Given the description of an element on the screen output the (x, y) to click on. 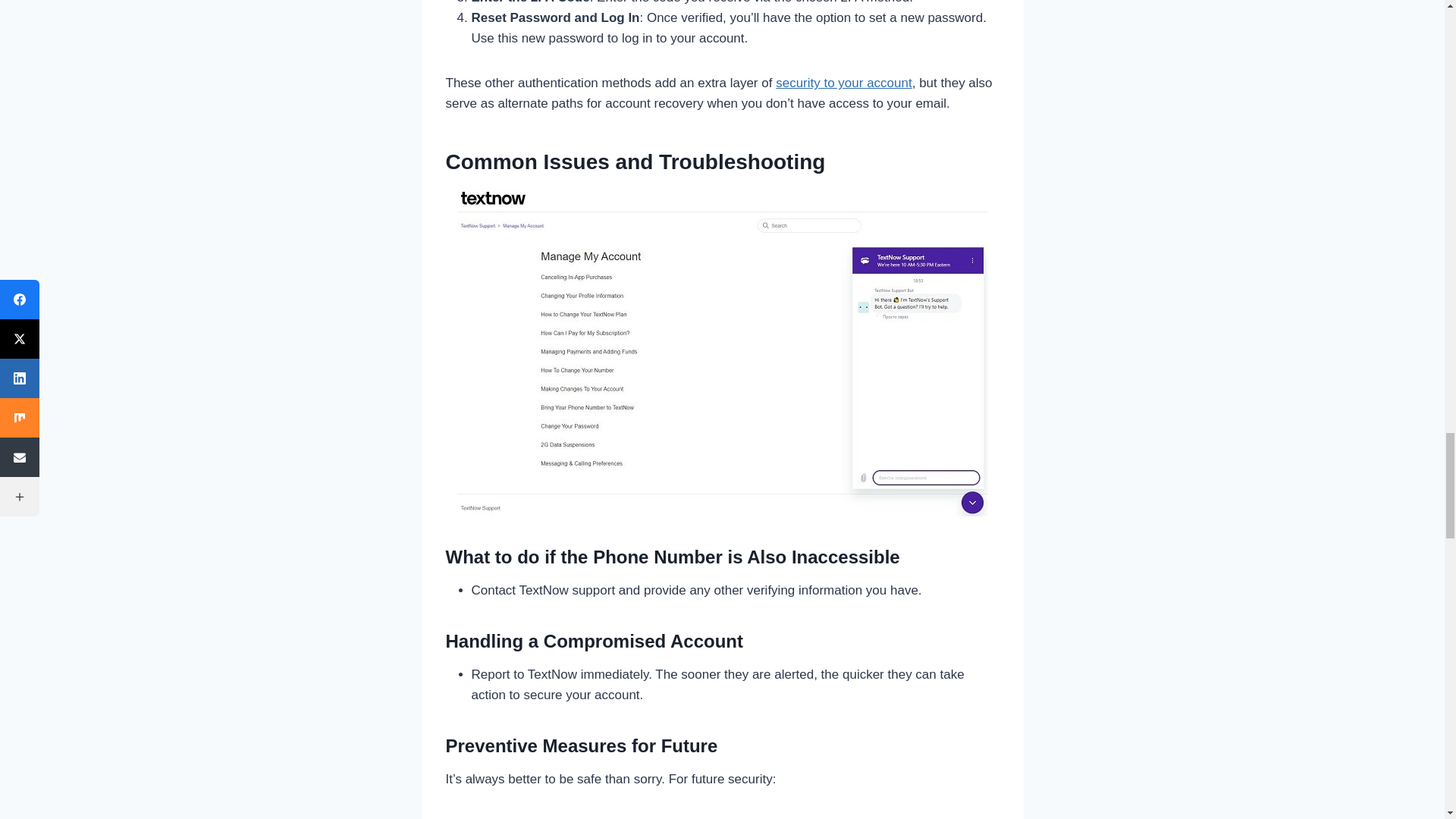
security to your account (844, 83)
